Given the description of an element on the screen output the (x, y) to click on. 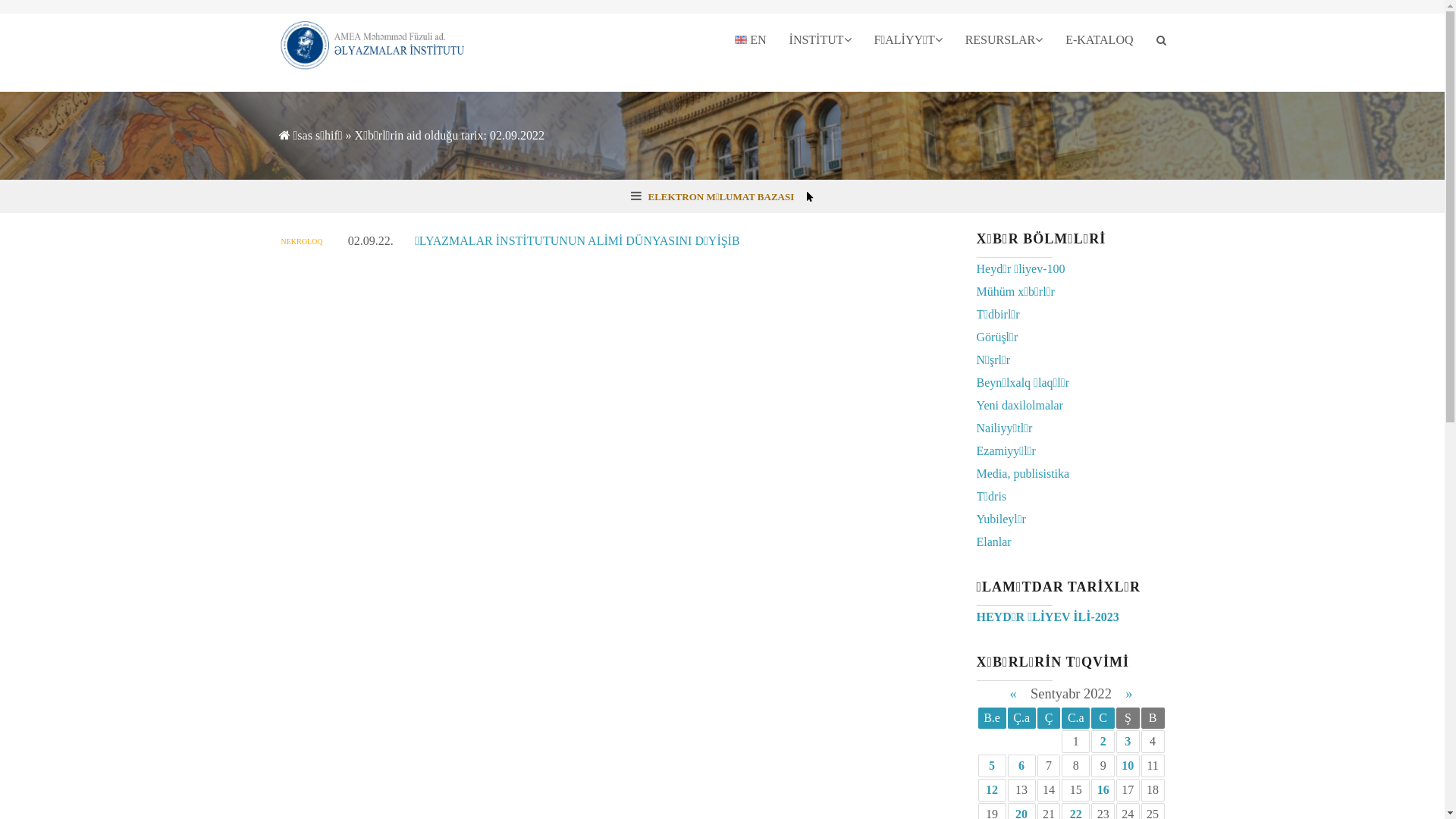
6 Element type: text (1021, 765)
3 Element type: text (1127, 740)
E-KATALOQ Element type: text (1099, 39)
RESURSLAR Element type: text (1003, 39)
10 Element type: text (1127, 765)
2 Element type: text (1103, 740)
Media, publisistika Element type: text (1023, 473)
12 Element type: text (991, 789)
EN Element type: text (750, 39)
Elanlar Element type: text (993, 541)
16 Element type: text (1103, 789)
Yeni daxilolmalar Element type: text (1019, 404)
5 Element type: text (991, 765)
